Given the description of an element on the screen output the (x, y) to click on. 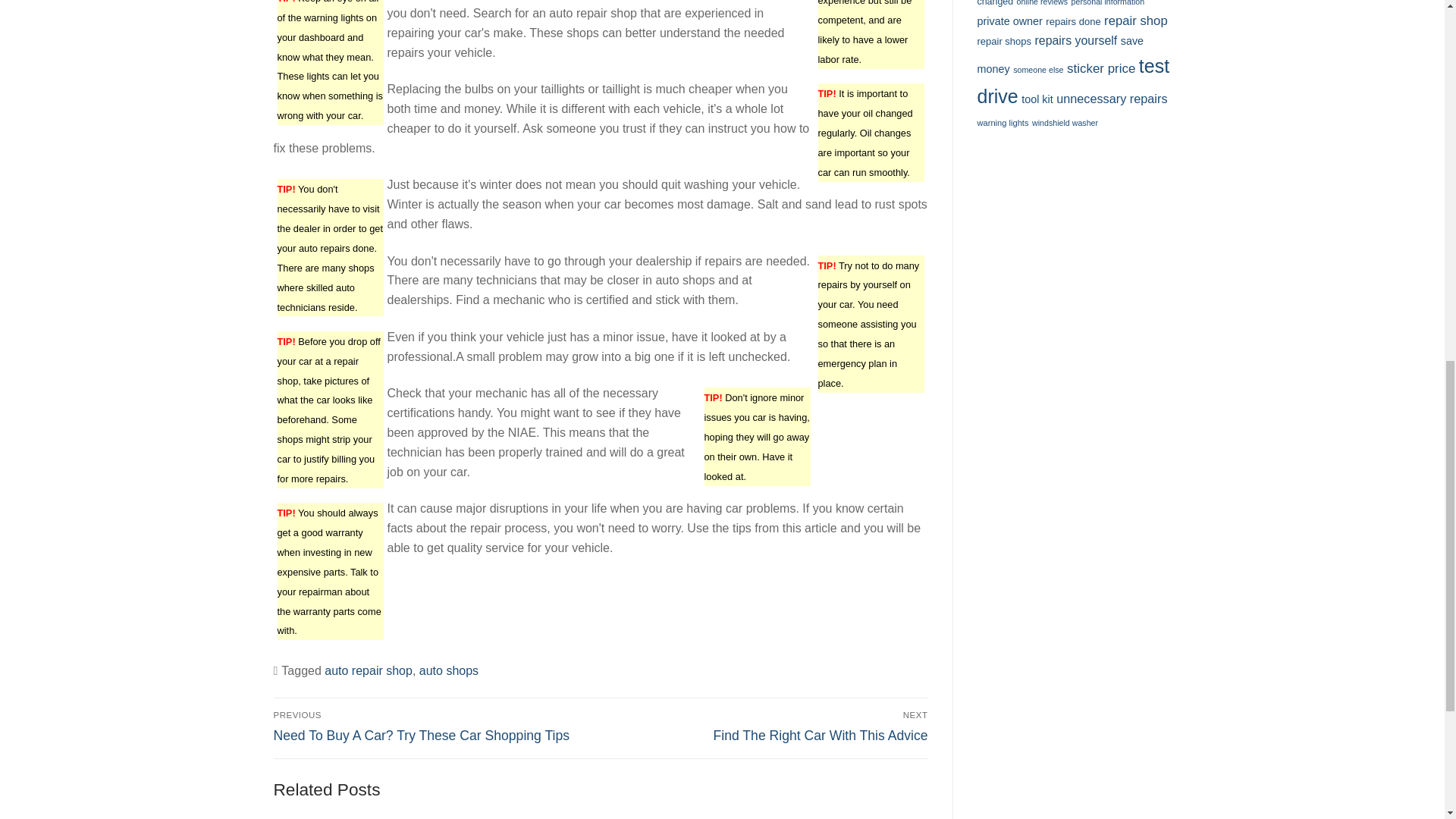
Auto Repair Advice And Tips You Can Use (767, 726)
auto repair shop (449, 670)
